Given the description of an element on the screen output the (x, y) to click on. 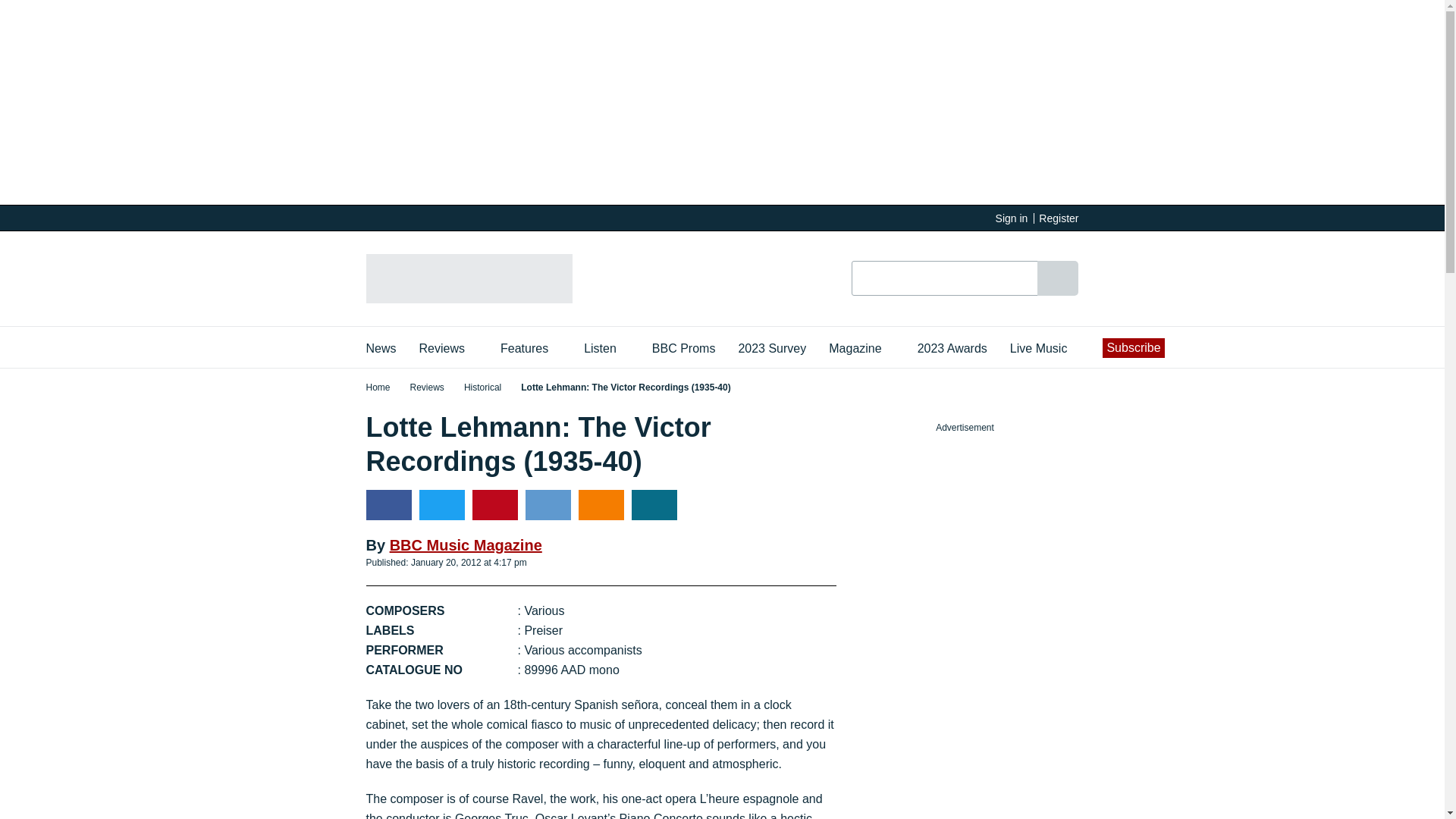
Sign in (1011, 218)
News (381, 346)
Reviews (448, 346)
Listen (606, 346)
Reviews (448, 346)
Features (530, 346)
Register (1058, 218)
Features (530, 346)
News (381, 346)
